Given the description of an element on the screen output the (x, y) to click on. 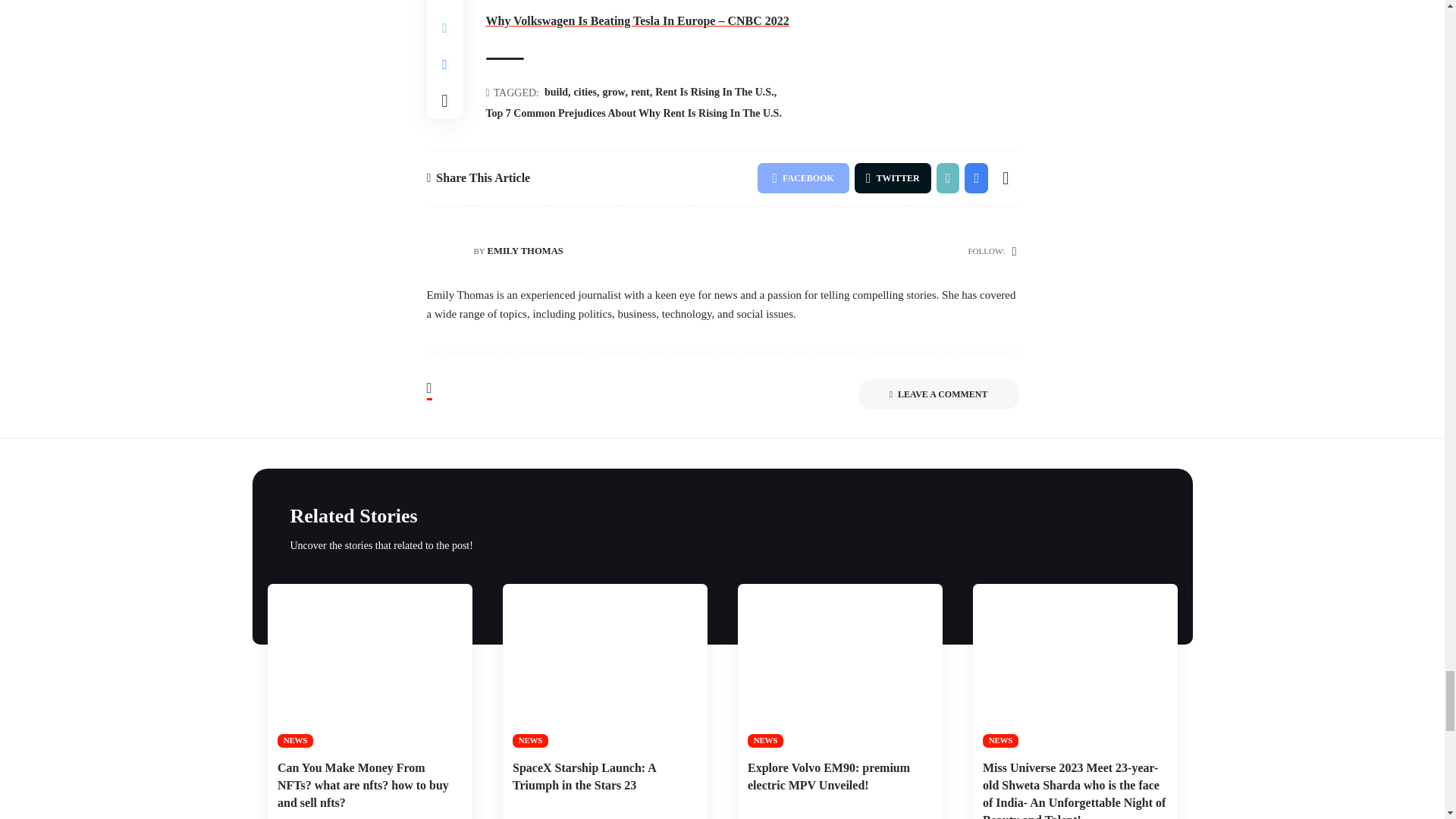
SpaceX Starship Launch: A Triumph in the Stars 23 (604, 665)
Explore Volvo EM90: premium electric MPV Unveiled! (839, 665)
